Given the description of an element on the screen output the (x, y) to click on. 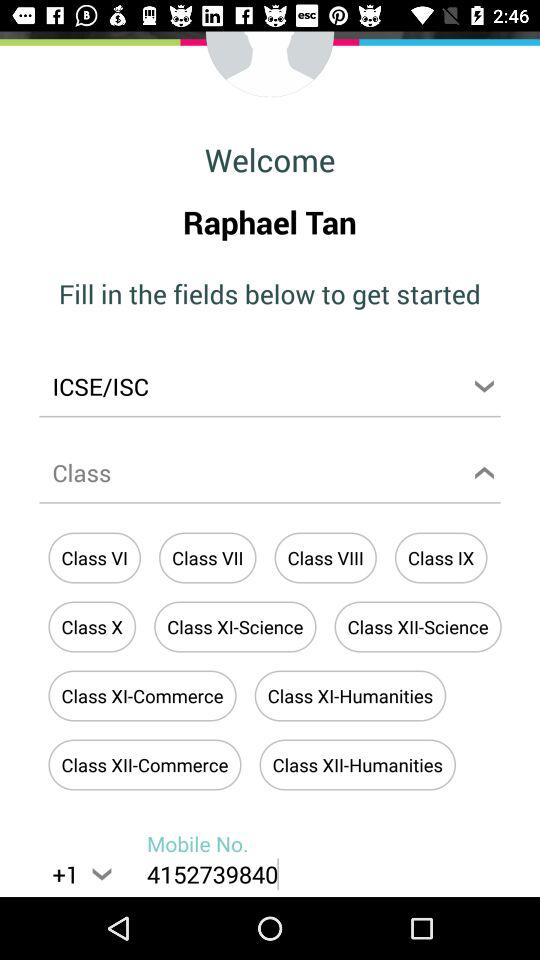
click on the button which is next to the class x (234, 626)
click on the button between class vii and class ix (325, 557)
click on the last button at the bottom of the page (357, 765)
click the button above the text mobile no on the web page (144, 765)
click on the button beside class xihumanities (142, 696)
